Given the description of an element on the screen output the (x, y) to click on. 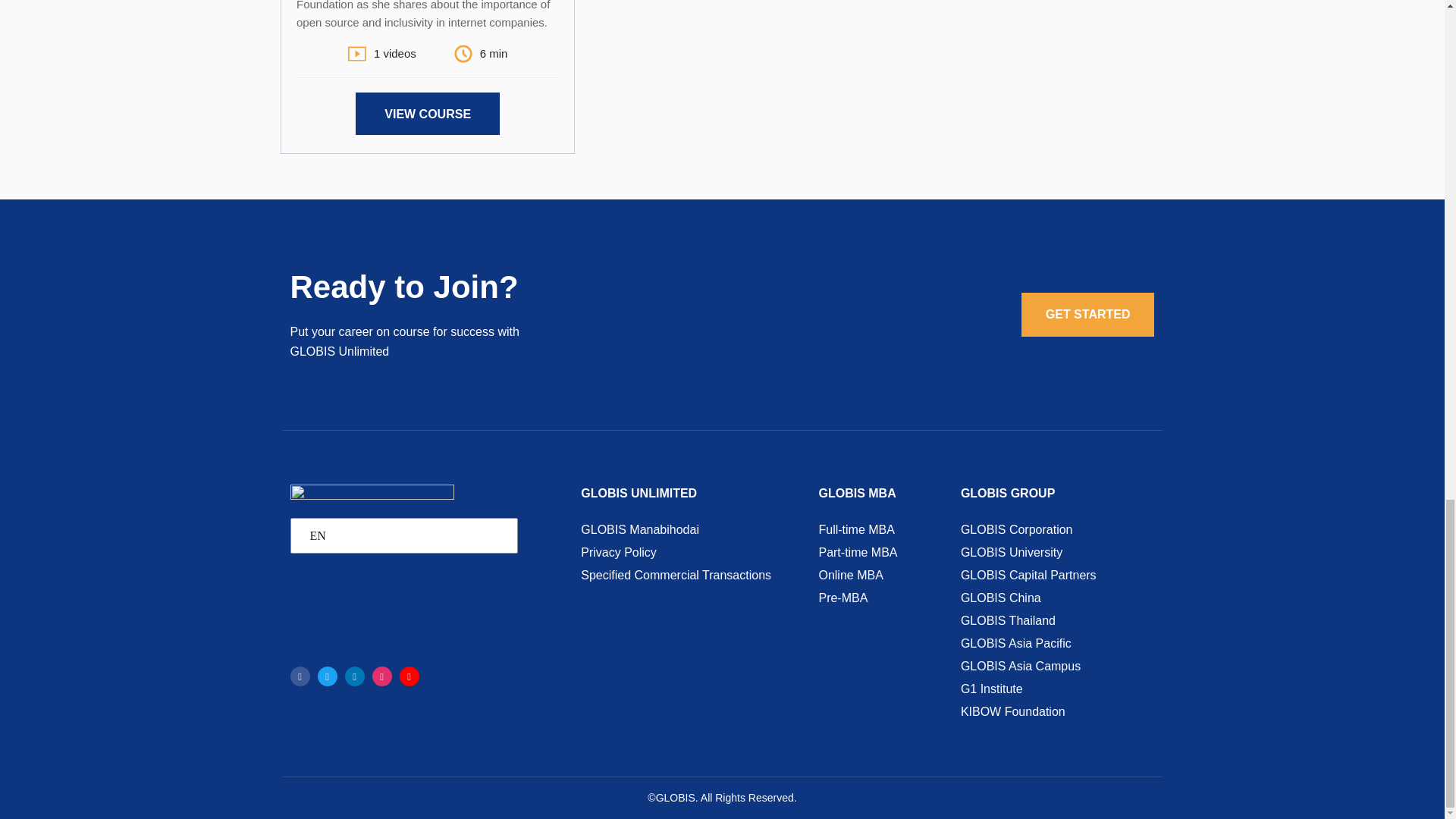
English (399, 535)
VIEW COURSE (427, 113)
